Given the description of an element on the screen output the (x, y) to click on. 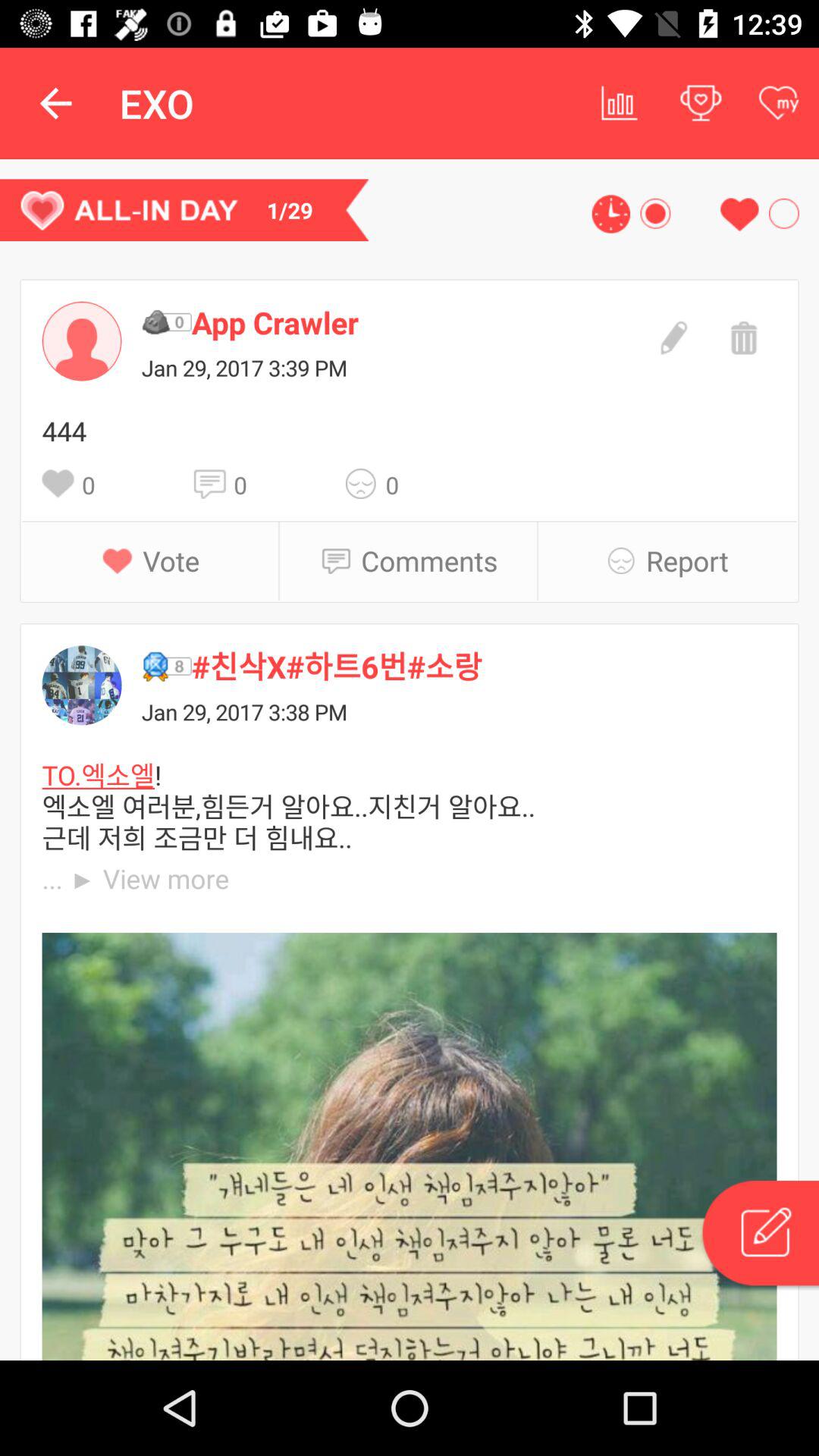
open the item below the vote icon (483, 666)
